Given the description of an element on the screen output the (x, y) to click on. 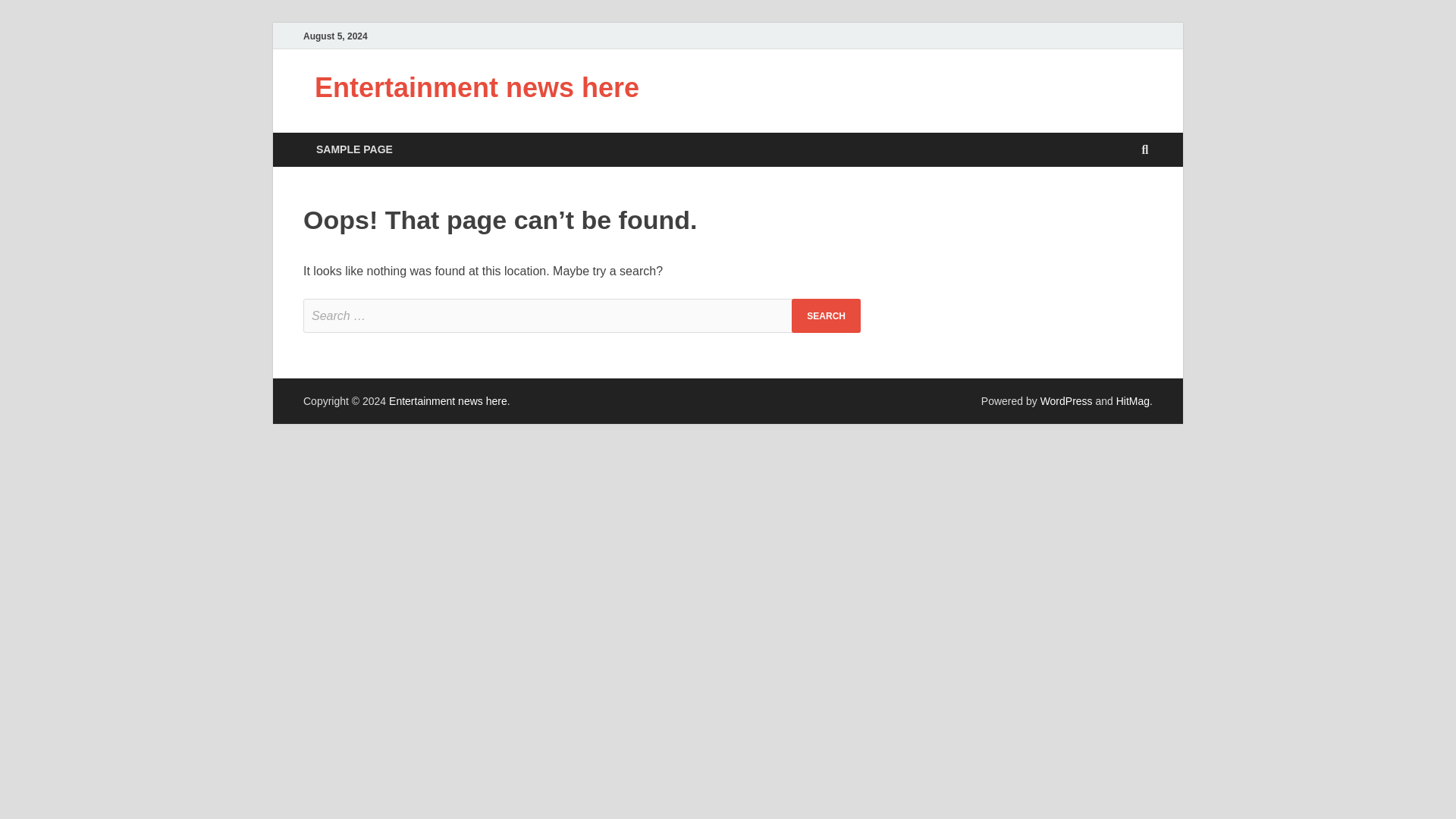
Search (826, 315)
Entertainment news here (476, 87)
Search (826, 315)
SAMPLE PAGE (354, 149)
Search (826, 315)
